Given the description of an element on the screen output the (x, y) to click on. 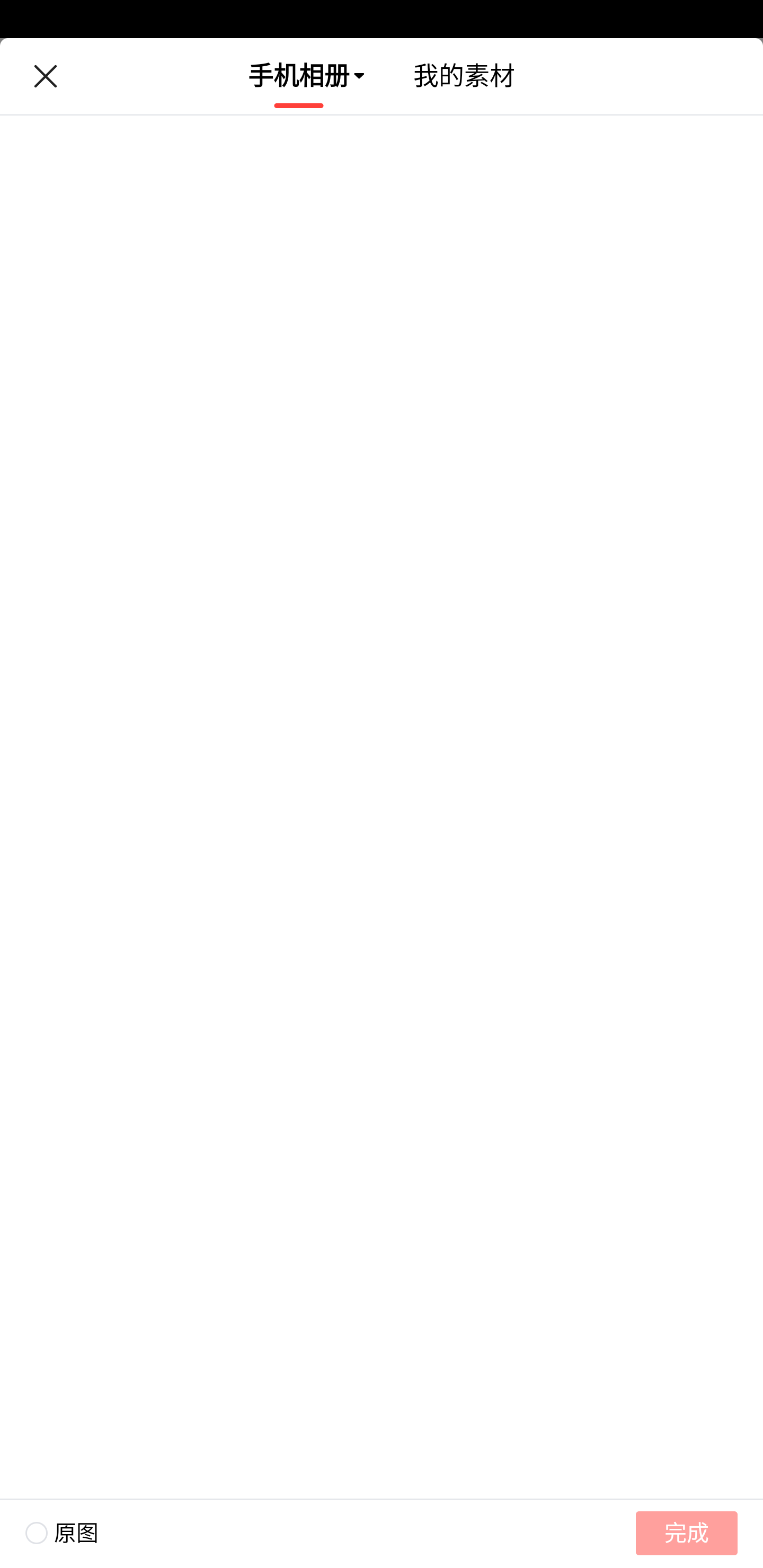
返回 (44, 75)
手机相册 (298, 75)
我的素材 (464, 75)
原图 原图 完成 完成 (381, 1533)
原图 (49, 1533)
